Given the description of an element on the screen output the (x, y) to click on. 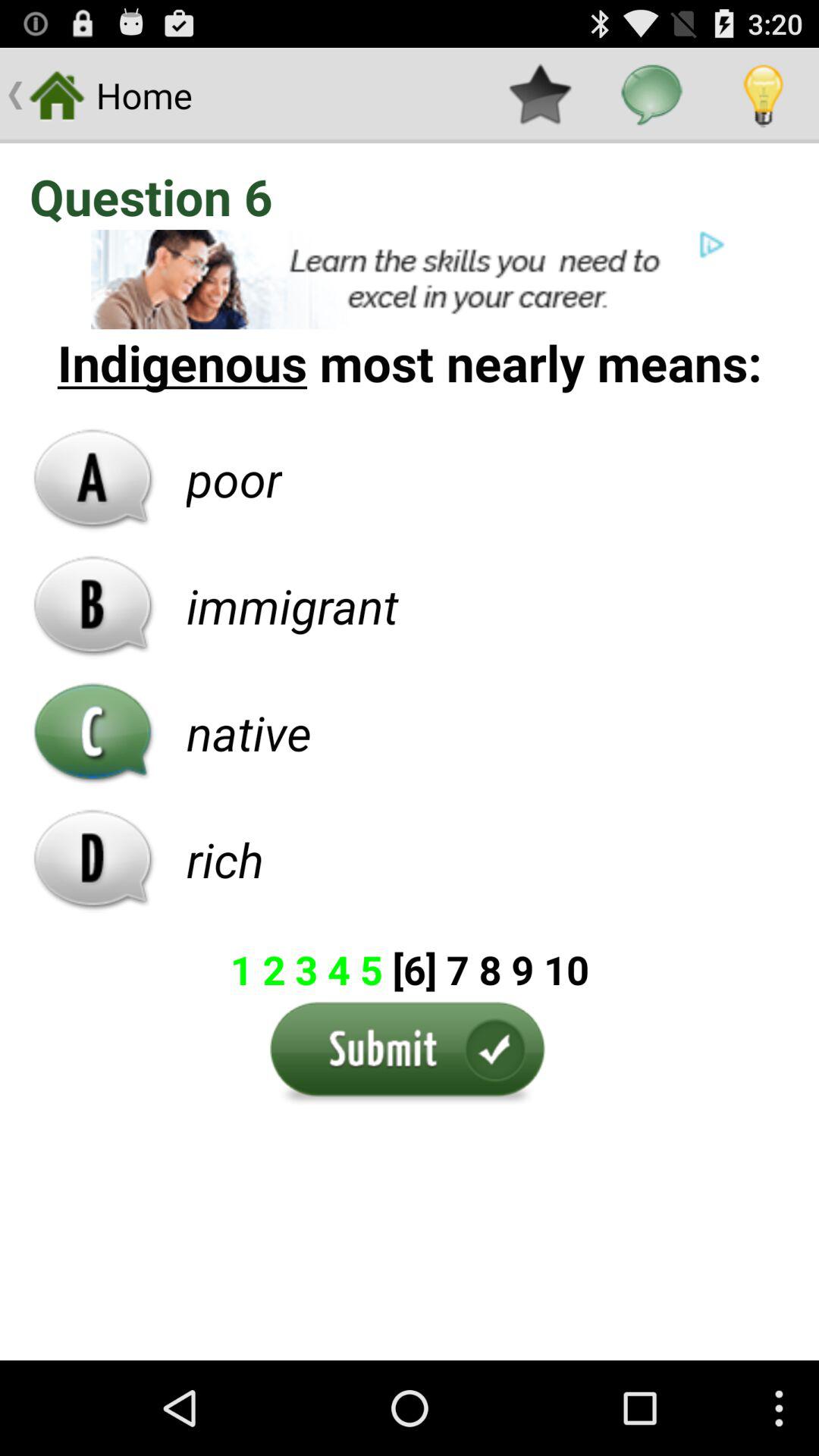
click on banner to find out more (409, 279)
